Given the description of an element on the screen output the (x, y) to click on. 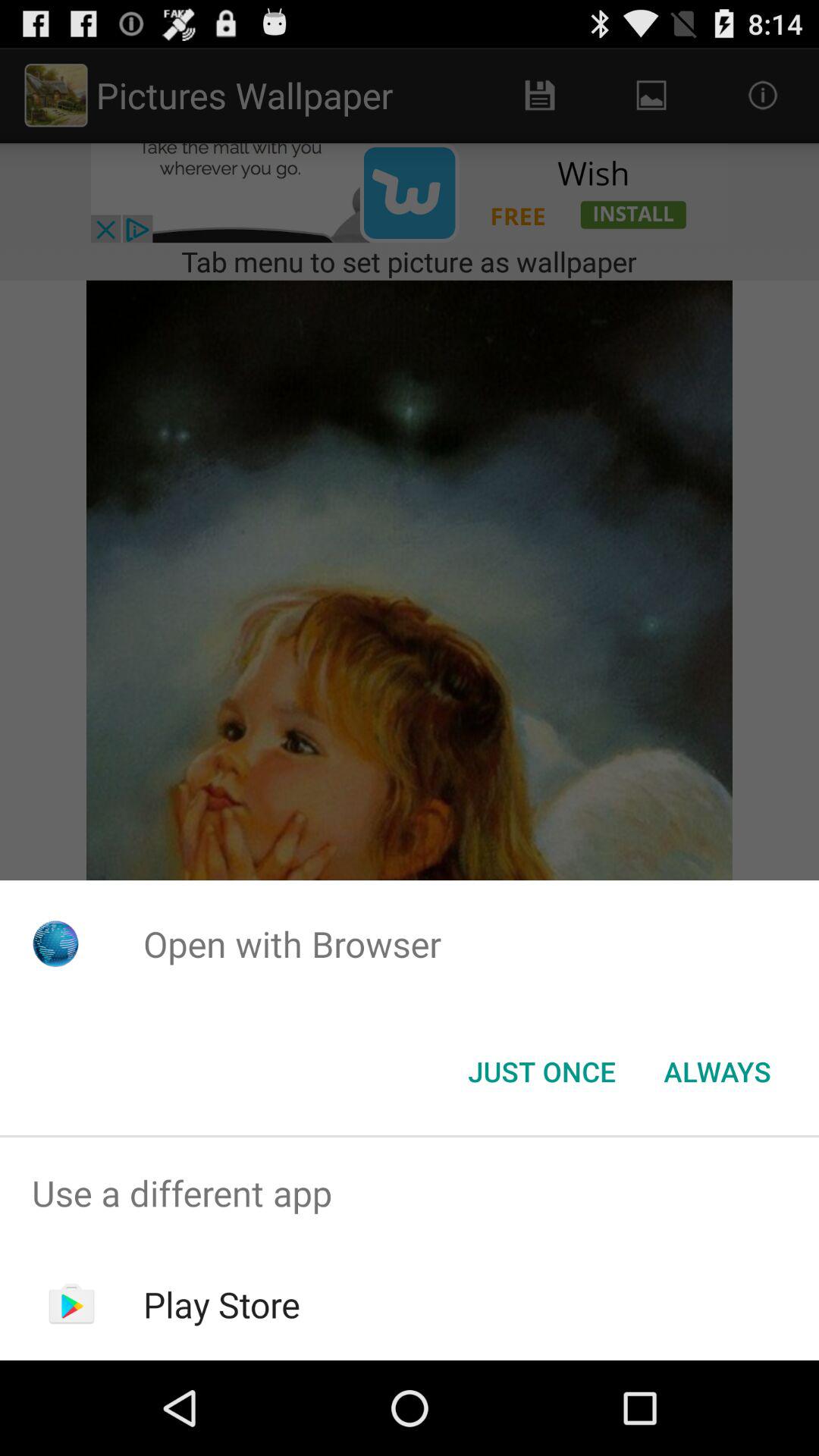
tap the icon to the left of the always item (541, 1071)
